Given the description of an element on the screen output the (x, y) to click on. 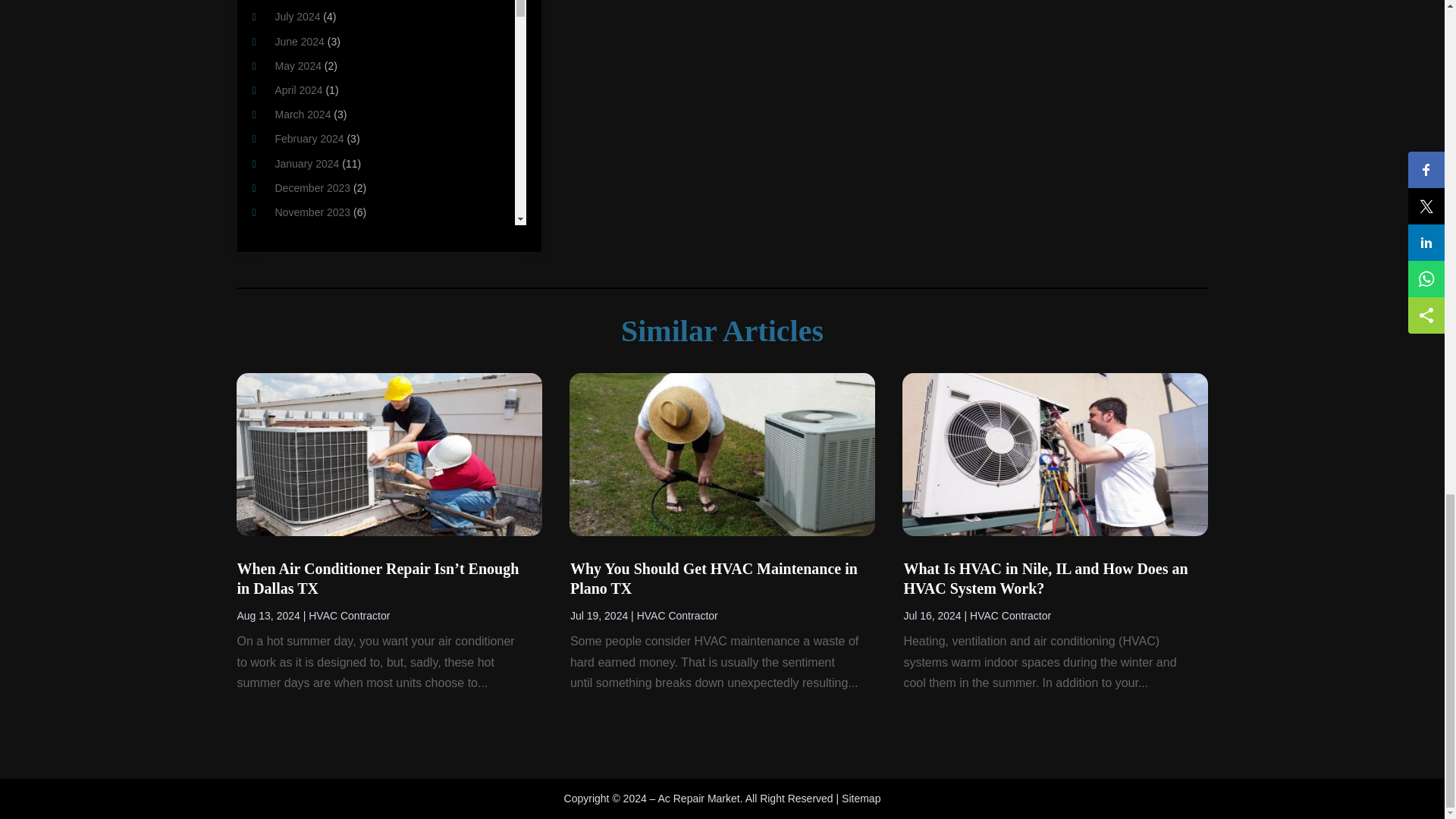
Heating And Cooling (323, 4)
Heating Contractor (319, 28)
HVAC Contractor (315, 101)
HVAC (288, 77)
